Given the description of an element on the screen output the (x, y) to click on. 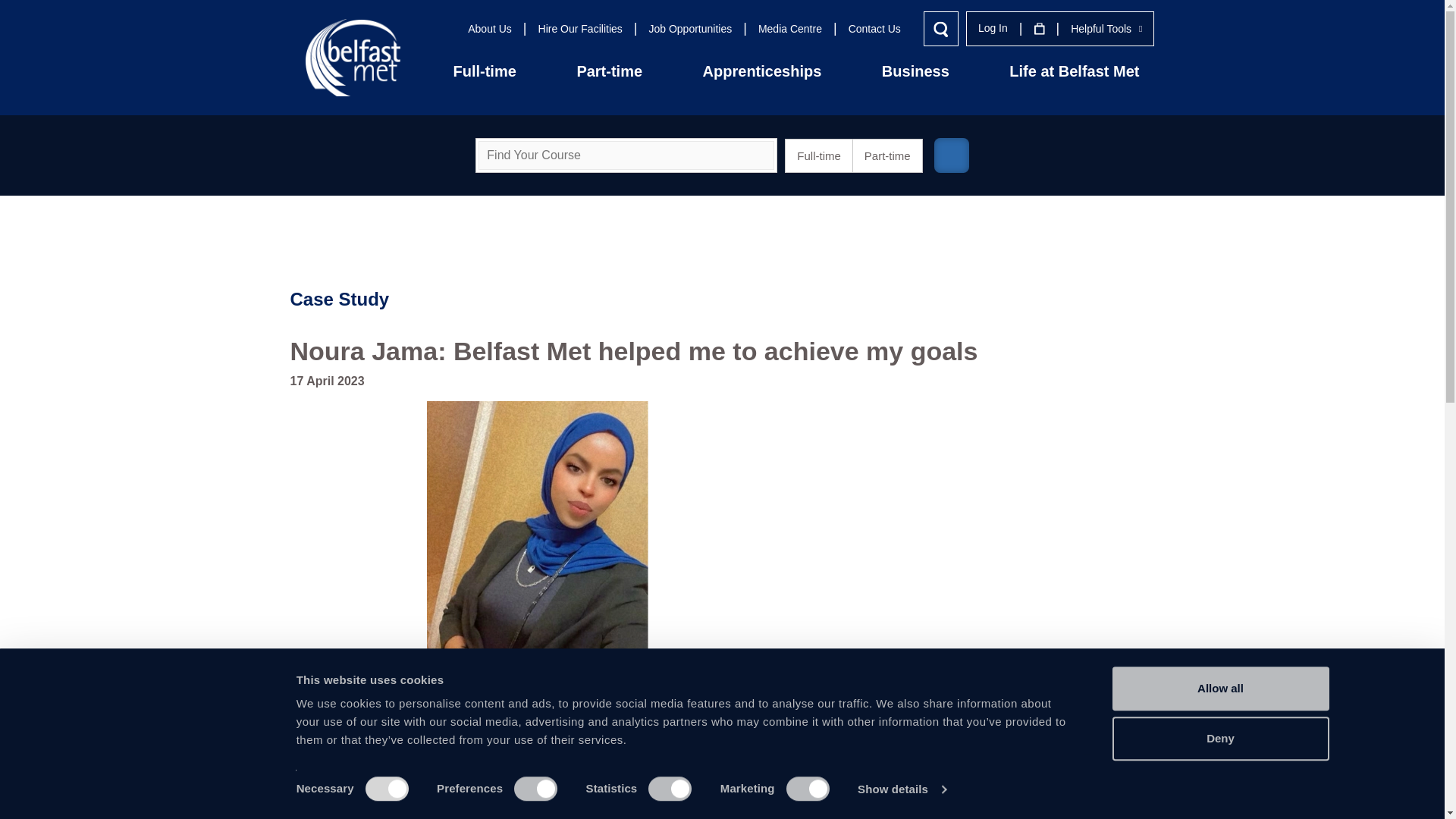
Show details (900, 789)
Allow all (1219, 688)
Deny (1219, 738)
